Given the description of an element on the screen output the (x, y) to click on. 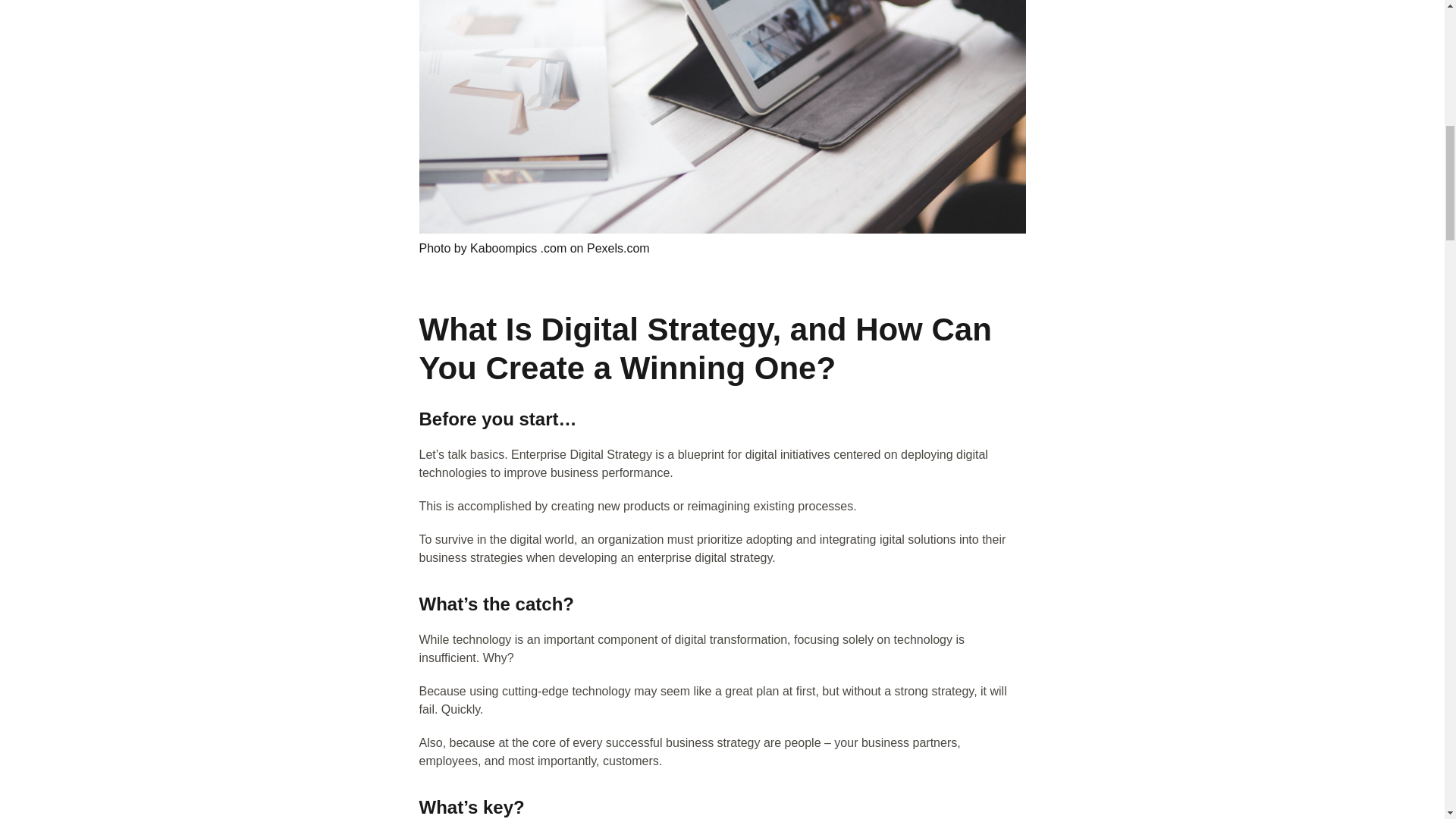
Pexels.com (617, 247)
